Given the description of an element on the screen output the (x, y) to click on. 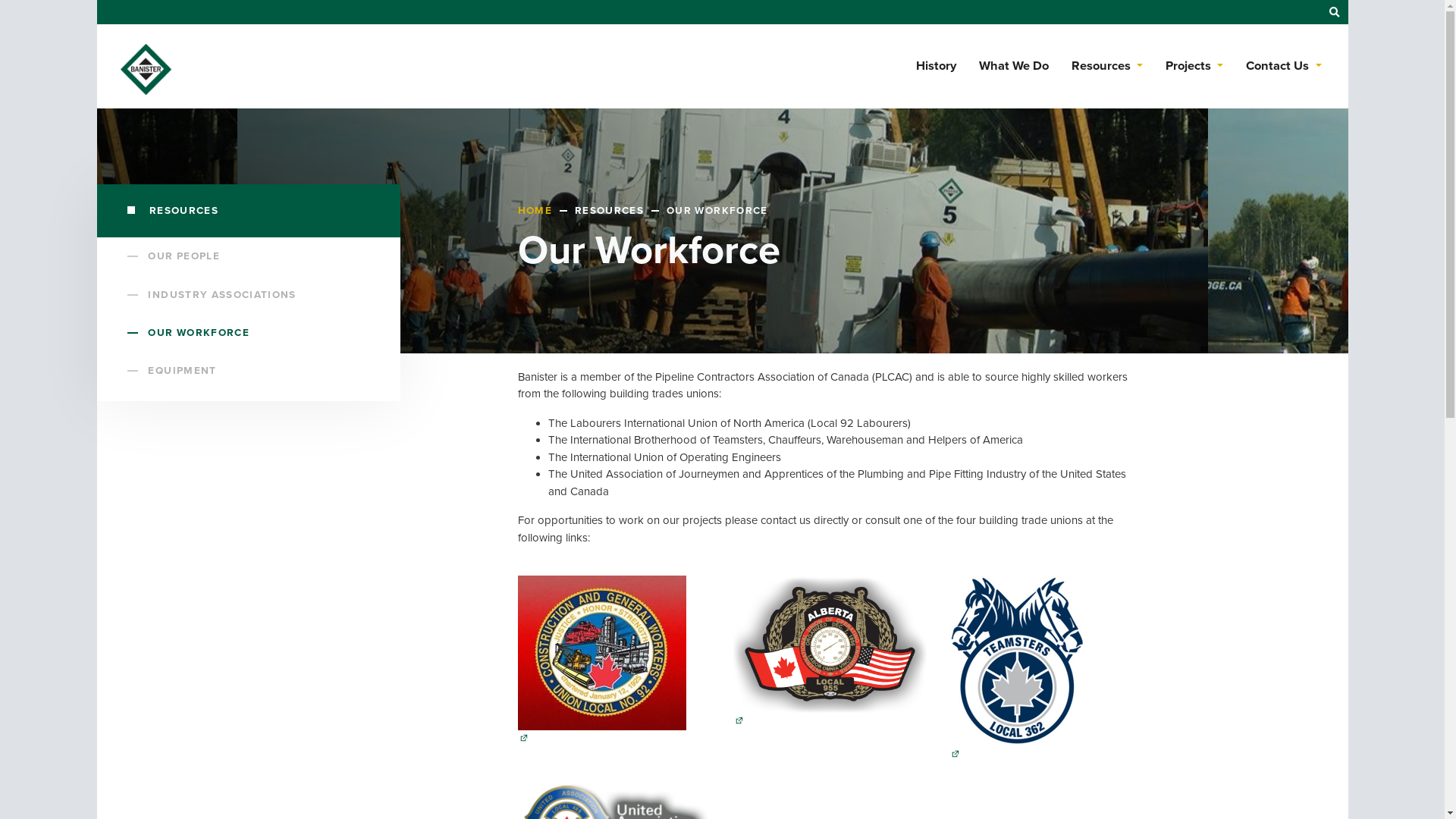
Contact Us Element type: text (1283, 66)
EQUIPMENT Element type: text (256, 370)
Resources Element type: text (1107, 66)
INDUSTRY ASSOCIATIONS Element type: text (256, 294)
HOME Element type: text (793, 200)
History Element type: text (935, 66)
Projects Element type: text (1194, 66)
RESOURCES Element type: text (248, 210)
OUR WORKFORCE Element type: text (256, 332)
What We Do Element type: text (1013, 66)
RESOURCES Element type: text (620, 210)
OUR PEOPLE Element type: text (256, 255)
